Given the description of an element on the screen output the (x, y) to click on. 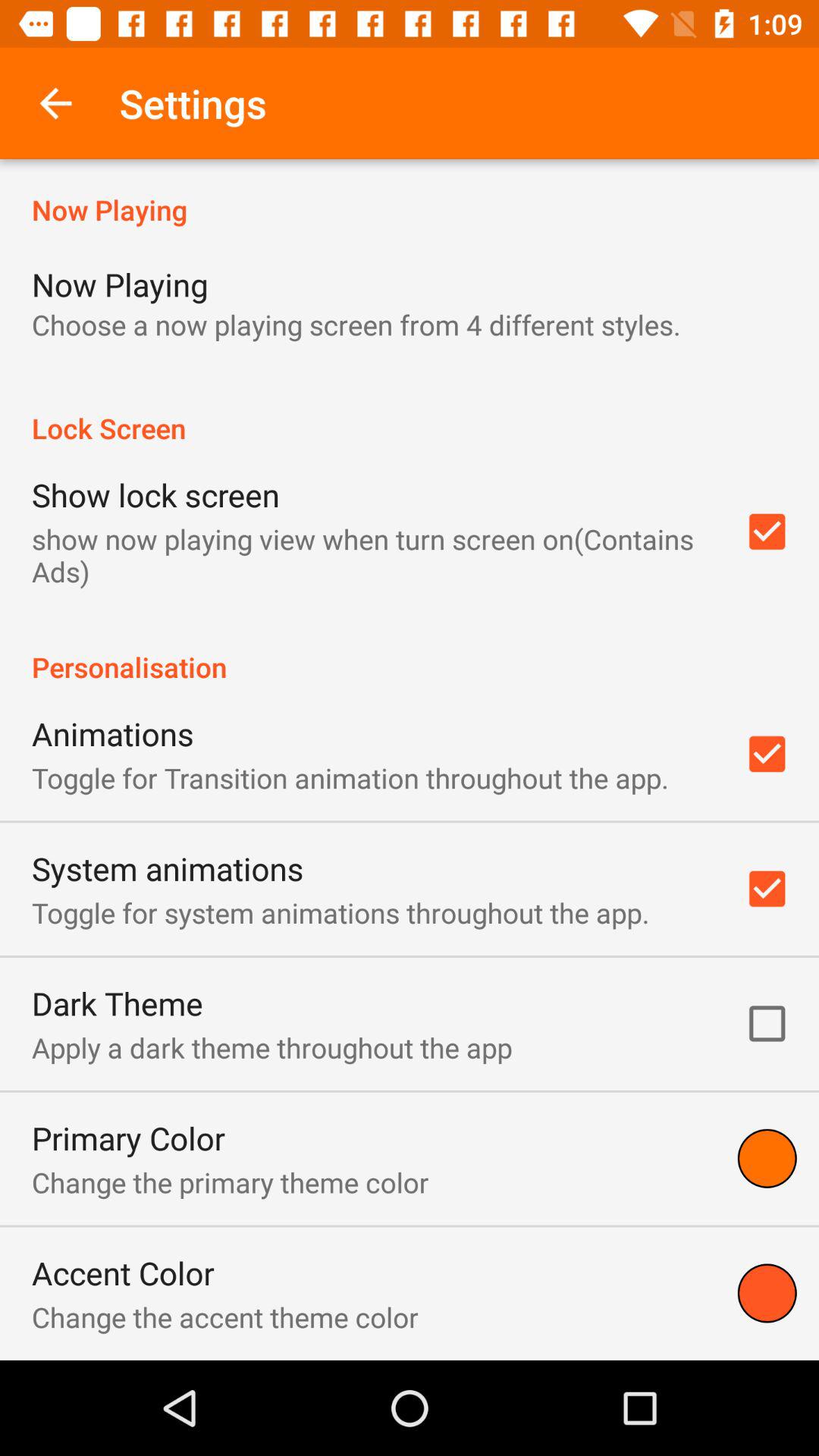
swipe until apply a dark item (271, 1047)
